Given the description of an element on the screen output the (x, y) to click on. 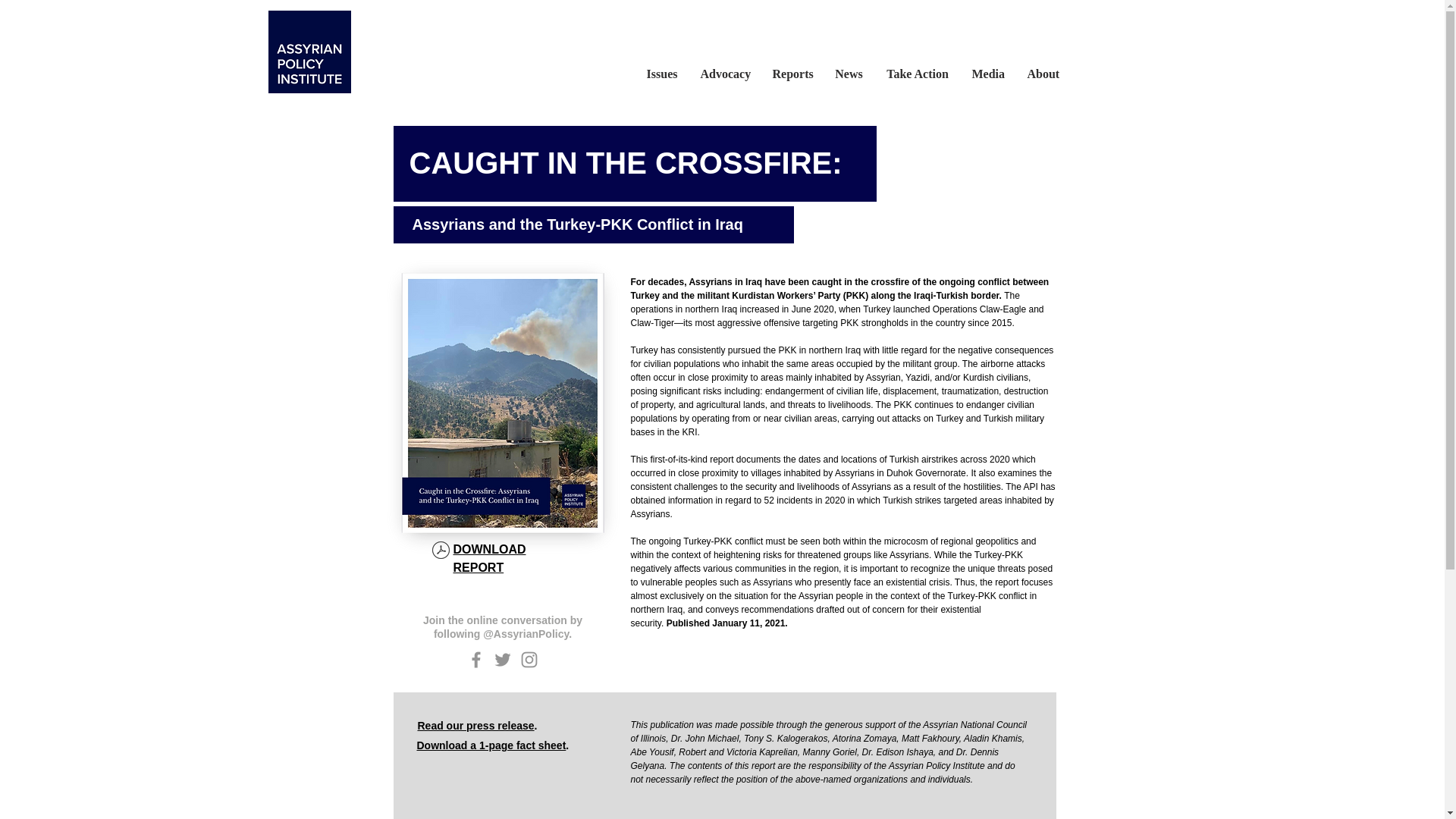
Read our press release (475, 725)
Download a 1-page fact sheet. (492, 745)
News (849, 74)
DOWNLOAD REPORT (488, 558)
Caught in the Crossfire - Final.pdf (440, 551)
Reports (792, 74)
